Given the description of an element on the screen output the (x, y) to click on. 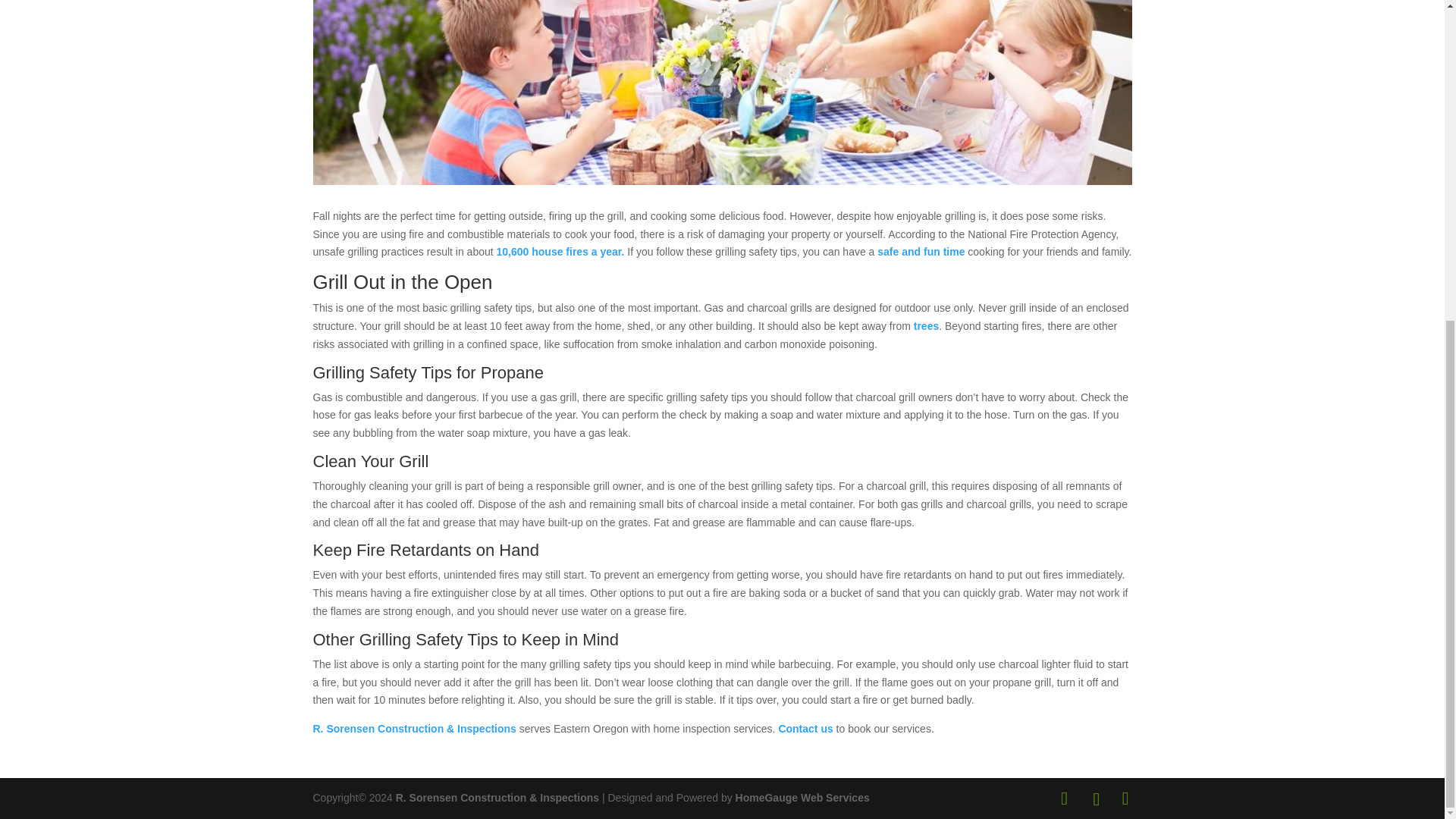
trees (926, 326)
HomeGauge Web Services (802, 797)
Contact us (804, 728)
safe and fun time (920, 251)
10,600 house fires a year. (560, 251)
